Given the description of an element on the screen output the (x, y) to click on. 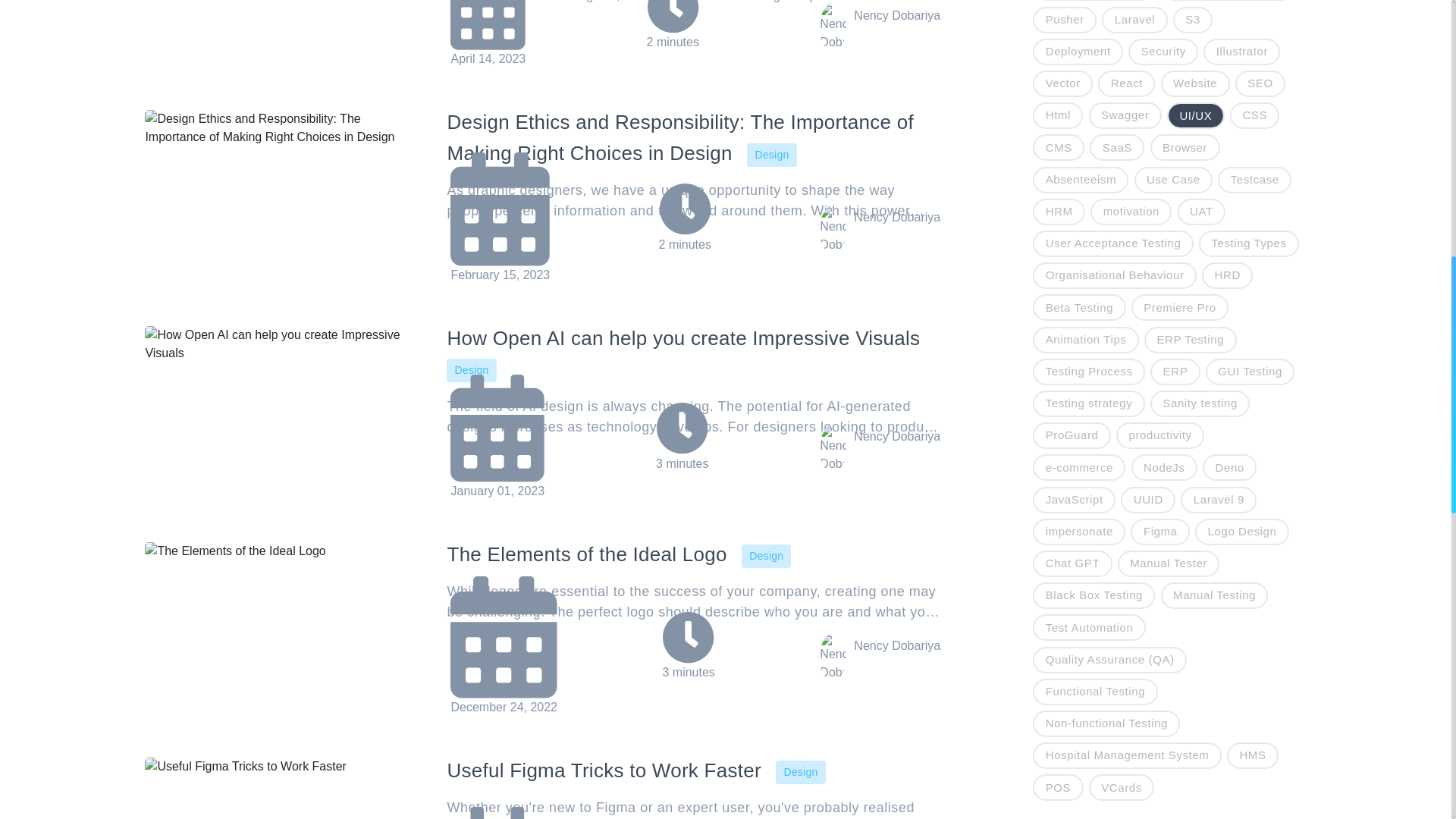
How Open AI can help you create Impressive Visuals (683, 337)
Nency Dobariya (879, 216)
Nency Dobariya (879, 15)
Design (771, 152)
